Given the description of an element on the screen output the (x, y) to click on. 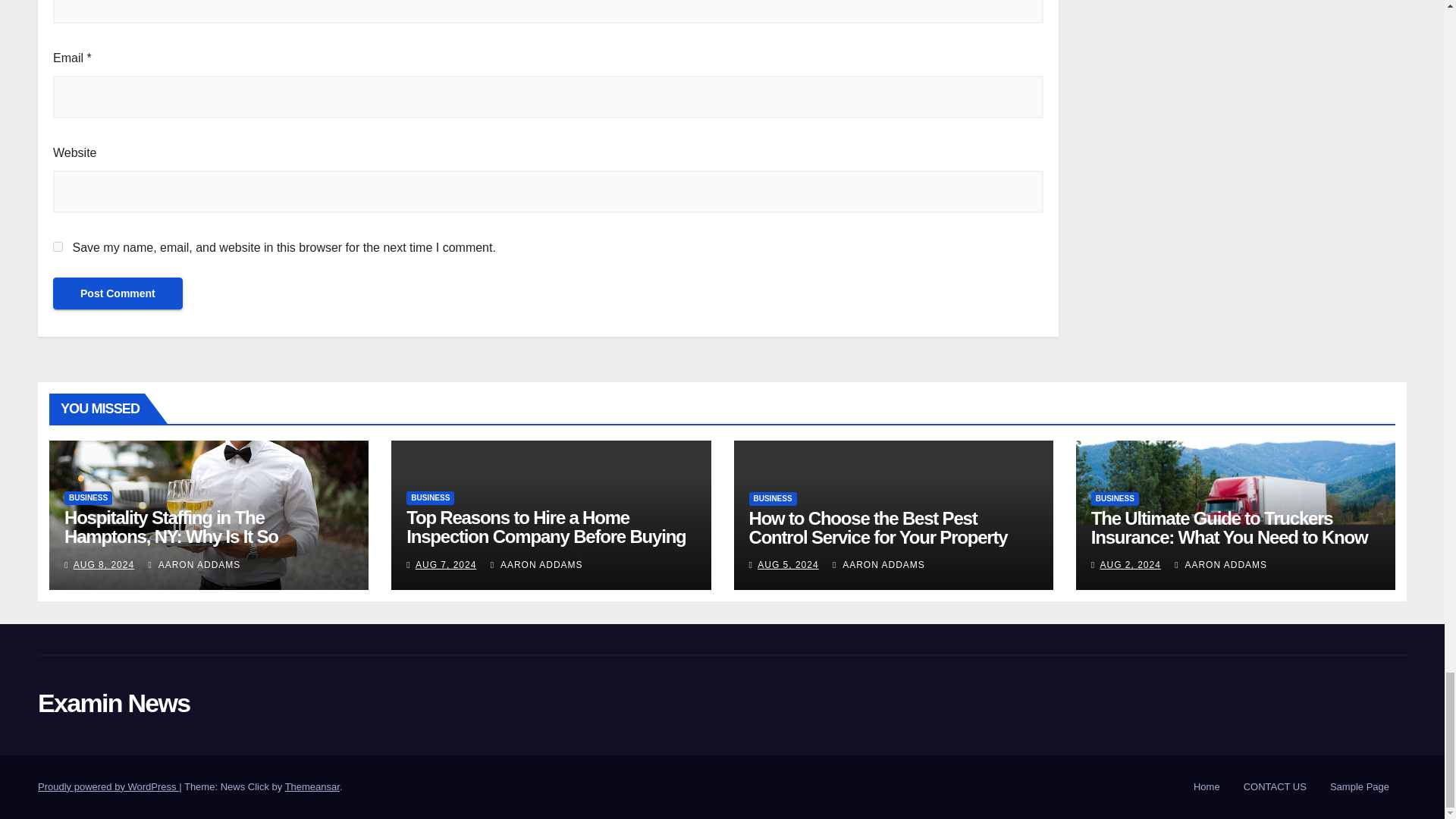
Post Comment (117, 293)
yes (57, 246)
Home (1206, 786)
